Given the description of an element on the screen output the (x, y) to click on. 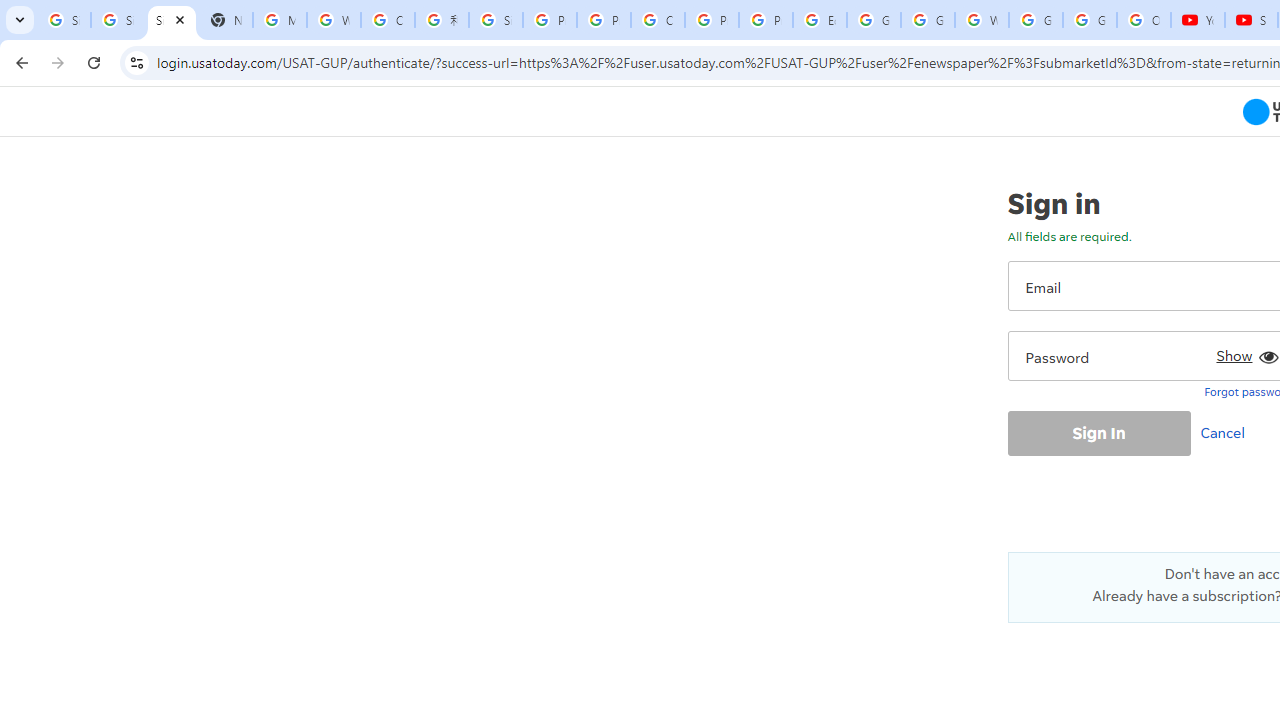
Edit and view right-to-left text - Google Docs Editors Help (819, 20)
Sign In (1098, 432)
Sign In - USA TODAY (171, 20)
Create your Google Account (657, 20)
Google Account (1089, 20)
New Tab (225, 20)
Who is my administrator? - Google Account Help (333, 20)
Cancel (1227, 431)
Sign in - Google Accounts (495, 20)
Sign in - Google Accounts (117, 20)
